Given the description of an element on the screen output the (x, y) to click on. 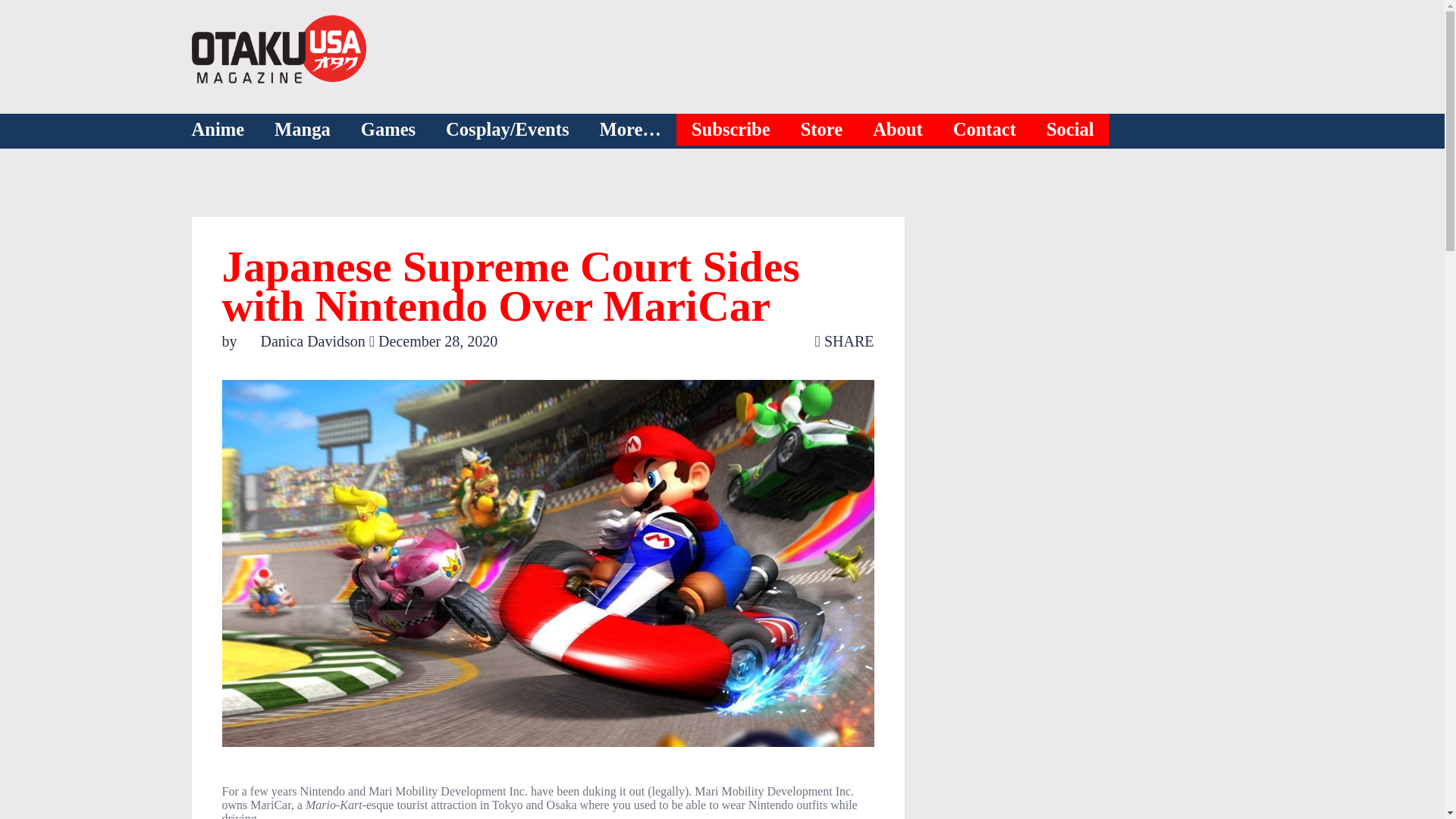
Games (387, 129)
Social (1070, 129)
Store (821, 129)
SHARE (845, 340)
Manga (302, 129)
Contact (984, 129)
Subscribe (730, 129)
Anime (217, 129)
About (897, 129)
Danica Davidson (304, 340)
